Given the description of an element on the screen output the (x, y) to click on. 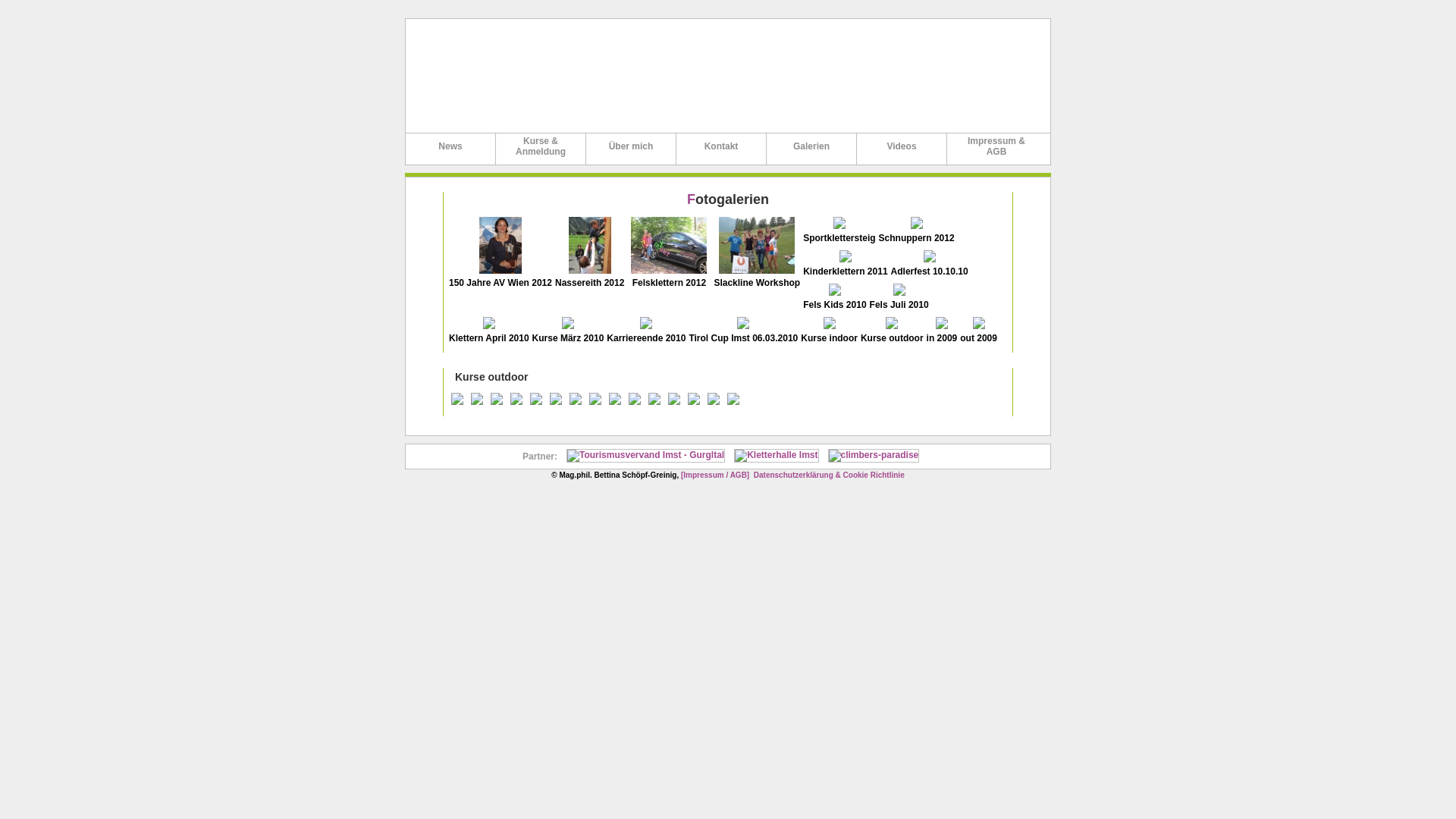
Tirol Cup Imst 06.03.2010 Element type: text (742, 333)
in 2009 Element type: text (941, 333)
News Element type: text (450, 152)
150 Jahre AV Wien 2012 Element type: text (500, 278)
Adlerfest 10.10.10 Element type: text (929, 266)
Fels Kids 2010 Element type: text (834, 300)
Kurse &
Anmeldung Element type: text (540, 149)
Schnuppern 2012 Element type: text (916, 233)
Galerien Element type: text (811, 152)
Kletterhalle Imst Element type: hover (776, 455)
Karriereende 2010 Element type: text (645, 333)
Nassereith 2012 Element type: text (589, 278)
Kurse outdoor Element type: text (891, 333)
Kurse indoor Element type: text (828, 333)
Slackline Workshop Element type: text (756, 278)
Tourismusvervand Imst - Gurgltal Element type: hover (645, 455)
Klettern April 2010 Element type: text (488, 333)
Felsklettern 2012 Element type: text (668, 278)
Sportklettersteig Element type: text (839, 233)
Kinderklettern 2011 Element type: text (845, 266)
climbers-paradise Element type: hover (873, 455)
Fels Juli 2010 Element type: text (898, 300)
Kontakt Element type: text (721, 152)
Impressum &
AGB Element type: text (996, 149)
out 2009 Element type: text (978, 333)
[Impressum / AGB] Element type: text (714, 474)
Videos Element type: text (901, 152)
